Given the description of an element on the screen output the (x, y) to click on. 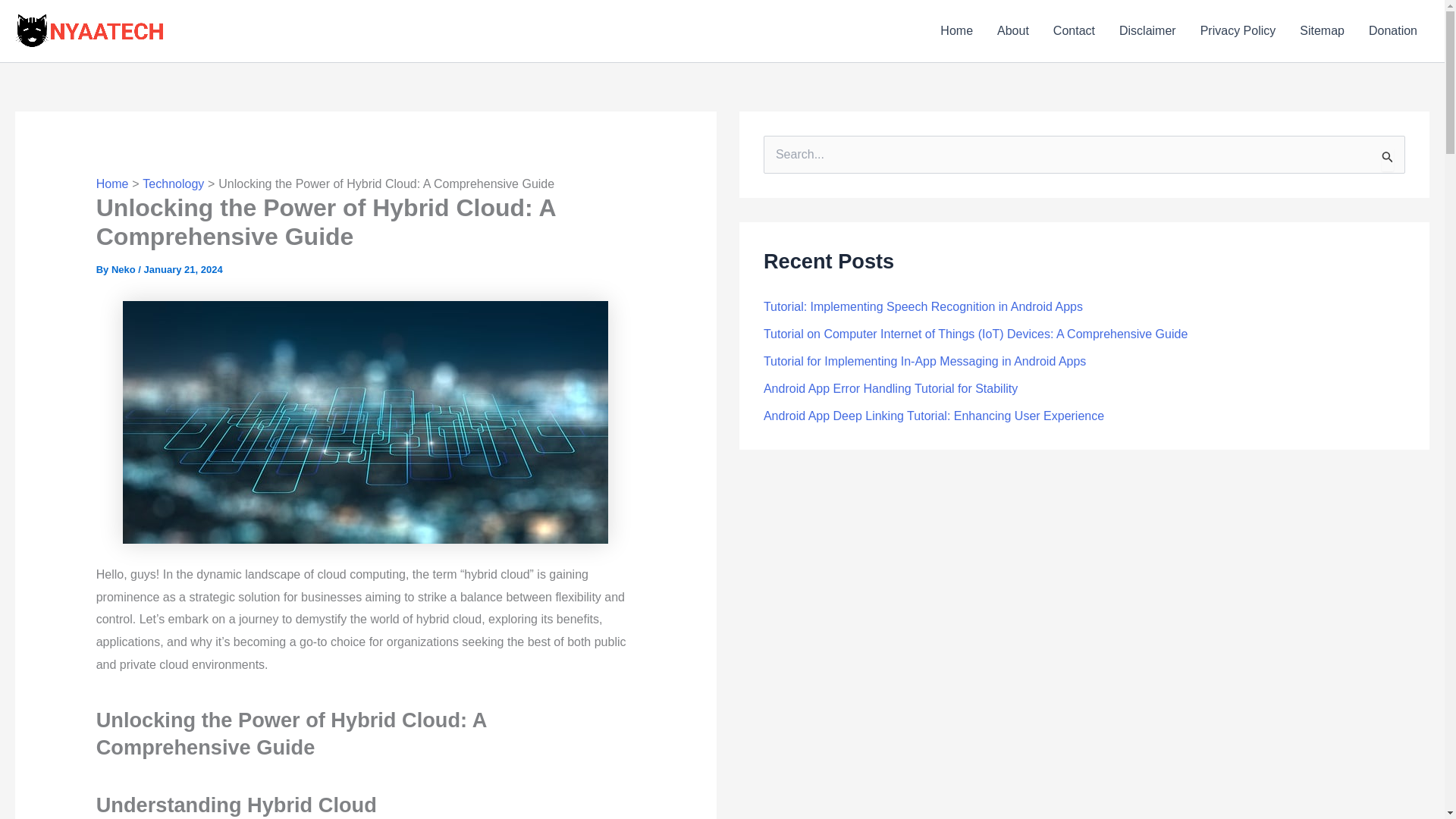
Donation (1392, 30)
About (1013, 30)
Home (956, 30)
Neko (125, 269)
Home (112, 183)
View all posts by Neko (125, 269)
Privacy Policy (1238, 30)
Sitemap (1321, 30)
Disclaimer (1147, 30)
Technology (172, 183)
